Given the description of an element on the screen output the (x, y) to click on. 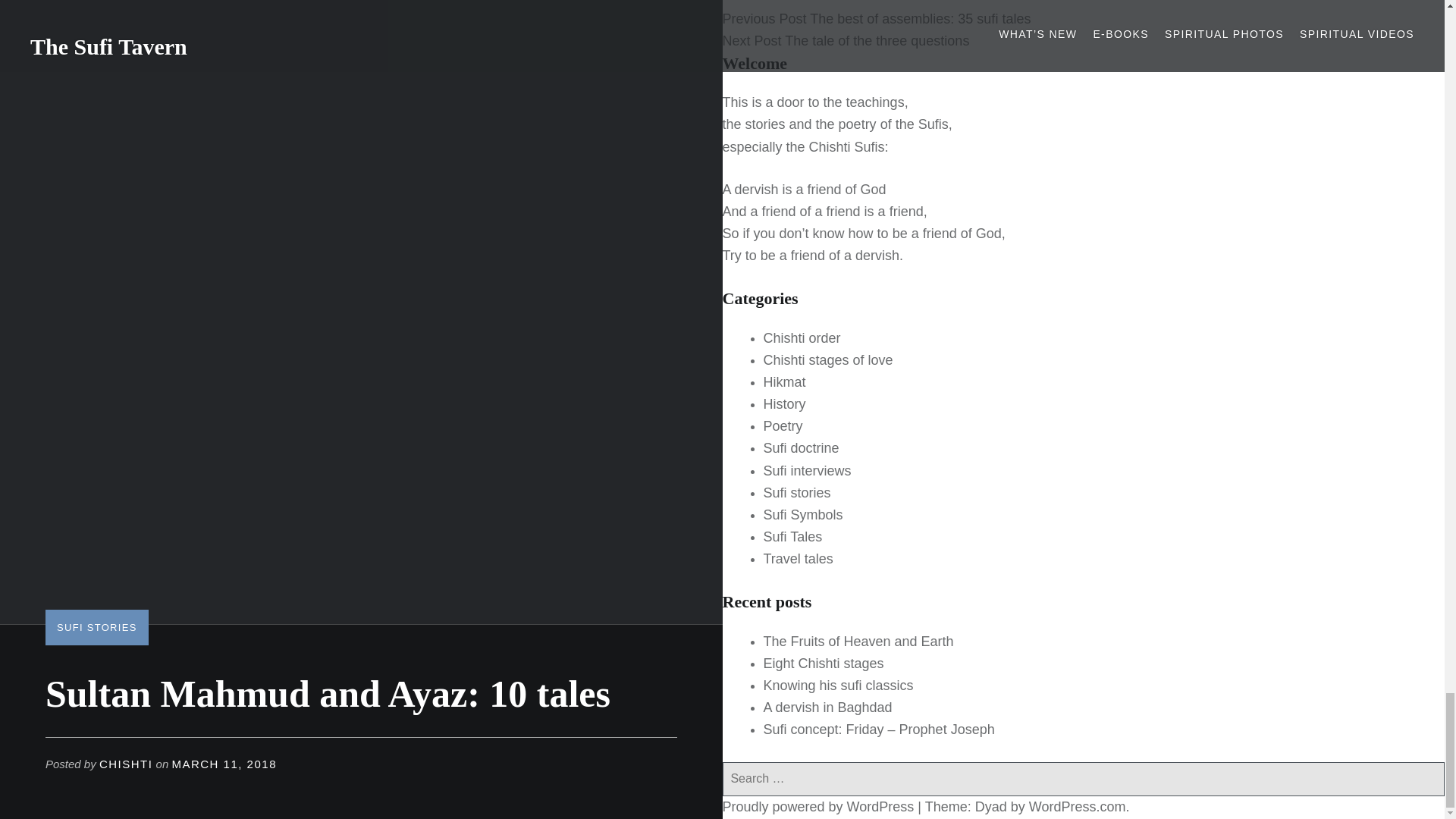
Sufi stories (795, 492)
Eight Chishti stages (822, 663)
Sufi doctrine (800, 447)
History (783, 403)
Chishti order (801, 337)
The Fruits of Heaven and Earth (857, 641)
Sufi interviews (806, 470)
Chishti stages of love (827, 359)
Sufi Tales (792, 536)
Sufi Symbols (802, 514)
